Given the description of an element on the screen output the (x, y) to click on. 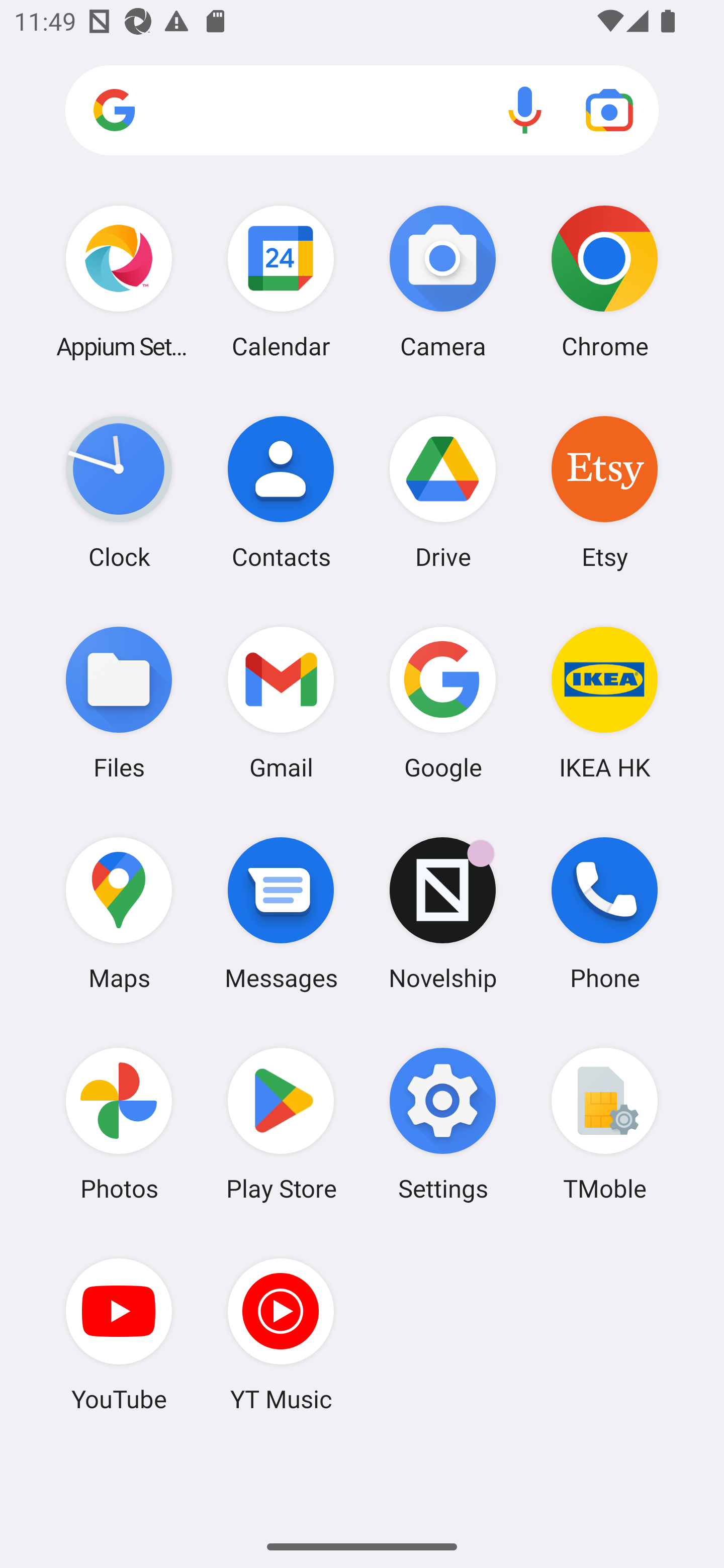
Search apps, web and more (361, 110)
Voice search (524, 109)
Google Lens (608, 109)
Appium Settings (118, 281)
Calendar (280, 281)
Camera (443, 281)
Chrome (604, 281)
Clock (118, 492)
Contacts (280, 492)
Drive (443, 492)
Etsy (604, 492)
Files (118, 702)
Gmail (280, 702)
Google (443, 702)
IKEA HK (604, 702)
Maps (118, 913)
Messages (280, 913)
Novelship Novelship has 4 notifications (443, 913)
Phone (604, 913)
Photos (118, 1124)
Play Store (280, 1124)
Settings (443, 1124)
TMoble (604, 1124)
YouTube (118, 1334)
YT Music (280, 1334)
